Given the description of an element on the screen output the (x, y) to click on. 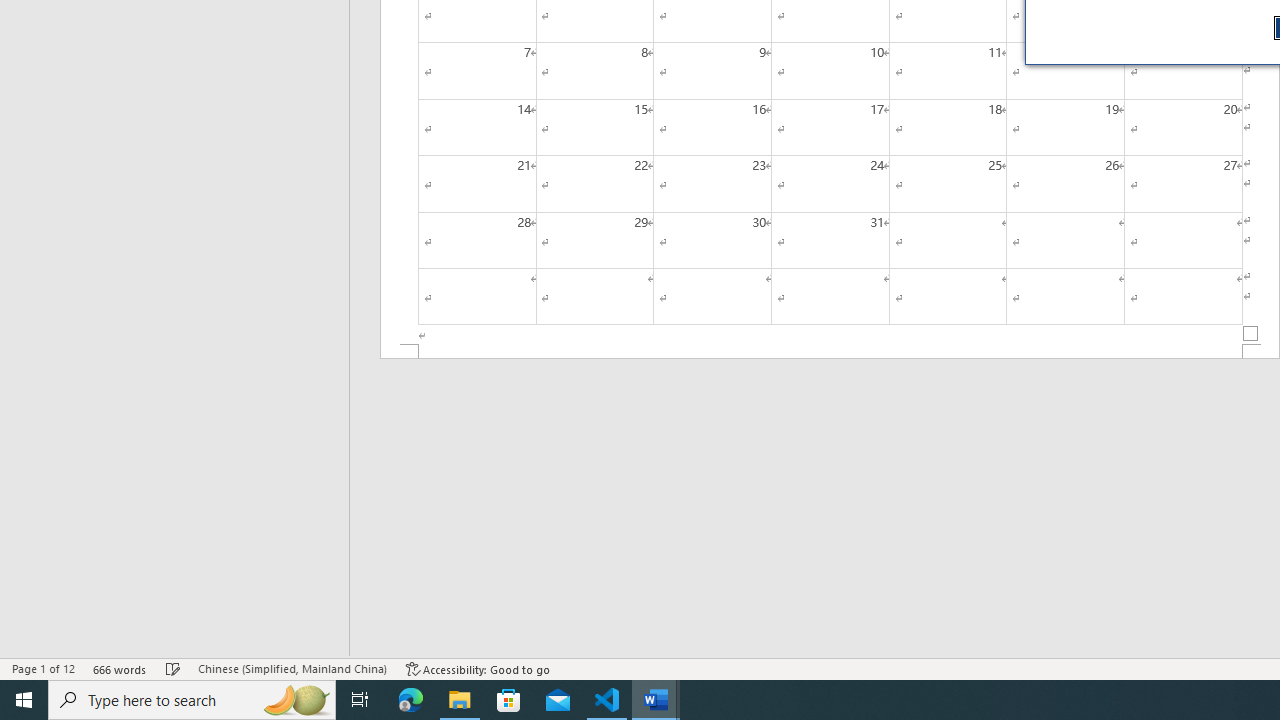
Microsoft Edge (411, 699)
Word - 2 running windows (656, 699)
Page Number Page 1 of 12 (43, 668)
